Given the description of an element on the screen output the (x, y) to click on. 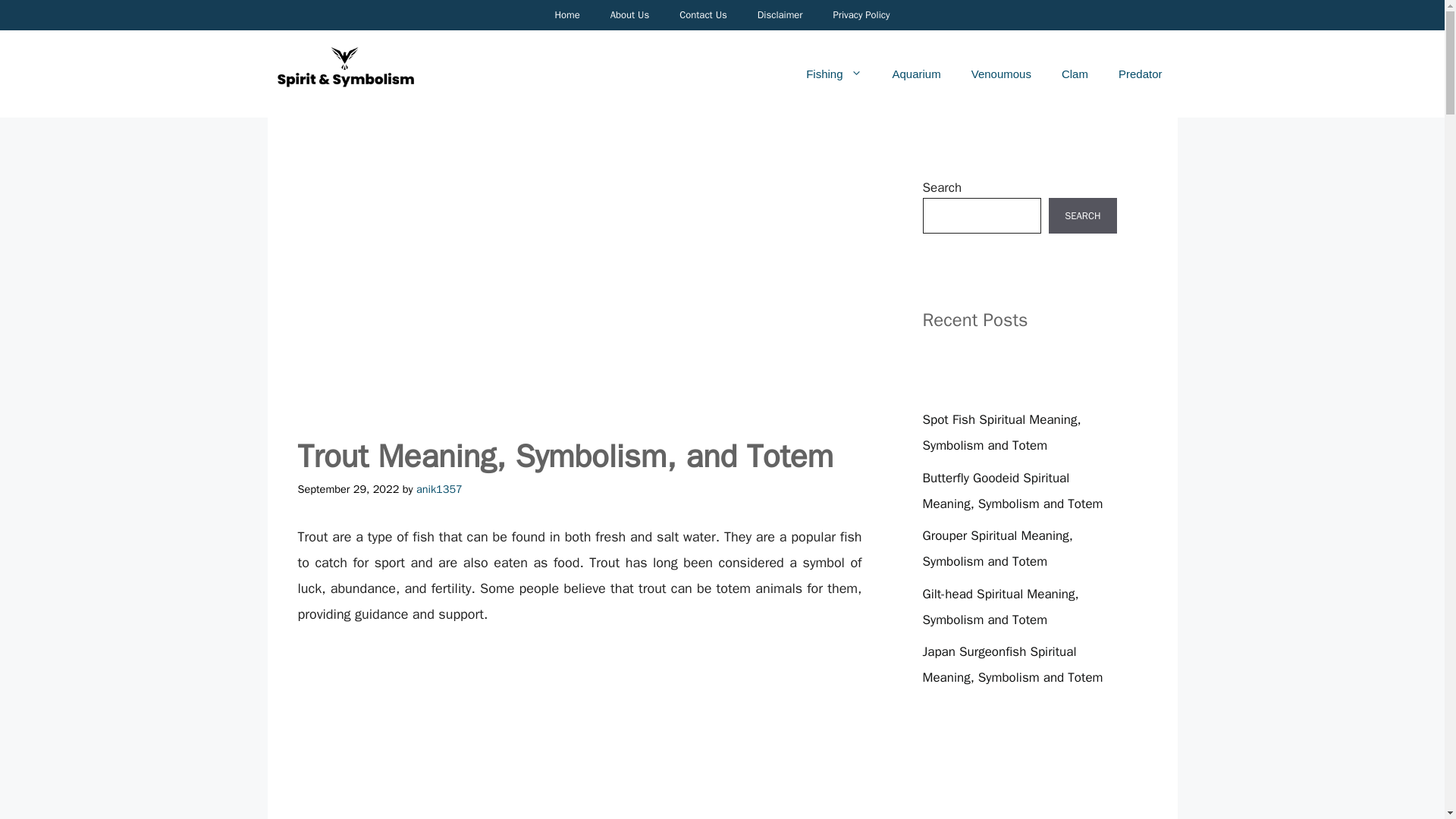
View all posts by anik1357 (439, 489)
About Us (629, 15)
anik1357 (439, 489)
Contact Us (702, 15)
Home (566, 15)
Gilt-head Spiritual Meaning, Symbolism and Totem (999, 607)
Clam (1074, 74)
Japan Surgeonfish Spiritual Meaning, Symbolism and Totem (1011, 664)
Fishing (833, 74)
Grouper Spiritual Meaning, Symbolism and Totem (996, 548)
Privacy Policy (860, 15)
Spot Fish Spiritual Meaning, Symbolism and Totem (1000, 432)
SEARCH (1082, 216)
Venoumous (1001, 74)
Aquarium (915, 74)
